Given the description of an element on the screen output the (x, y) to click on. 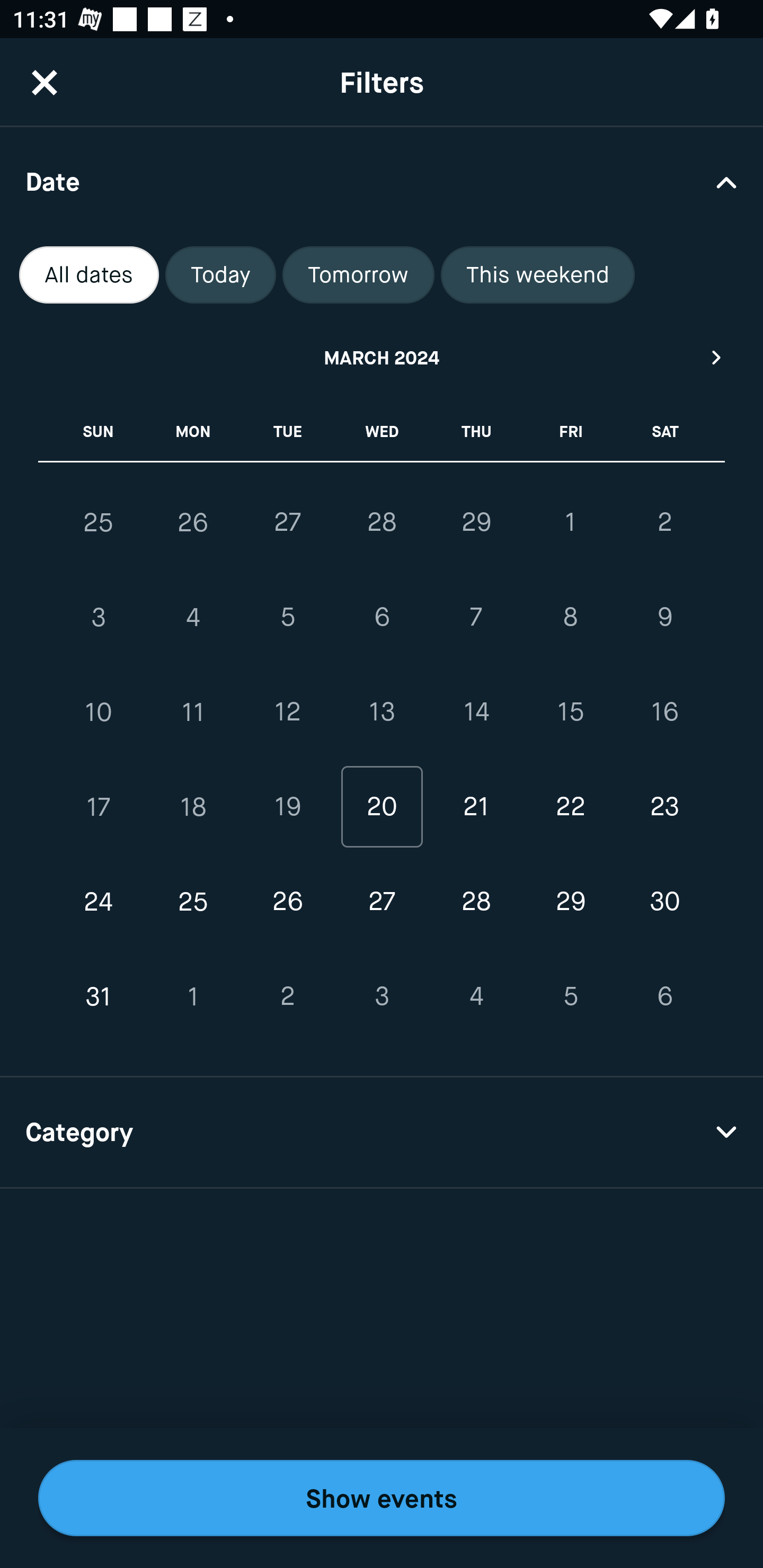
CloseButton (44, 82)
Date Drop Down Arrow (381, 181)
All dates (88, 274)
Today (220, 274)
Tomorrow (358, 274)
This weekend (537, 274)
Next (717, 357)
25 (98, 522)
26 (192, 522)
27 (287, 522)
28 (381, 522)
29 (475, 522)
1 (570, 522)
2 (664, 522)
3 (98, 617)
4 (192, 617)
5 (287, 617)
6 (381, 617)
7 (475, 617)
8 (570, 617)
9 (664, 617)
10 (98, 711)
11 (192, 711)
12 (287, 711)
13 (381, 711)
14 (475, 711)
15 (570, 711)
16 (664, 711)
17 (98, 806)
18 (192, 806)
19 (287, 806)
20 (381, 806)
21 (475, 806)
22 (570, 806)
23 (664, 806)
24 (98, 901)
25 (192, 901)
26 (287, 901)
27 (381, 901)
28 (475, 901)
29 (570, 901)
30 (664, 901)
31 (98, 996)
1 (192, 996)
2 (287, 996)
3 (381, 996)
4 (475, 996)
5 (570, 996)
6 (664, 996)
Category Drop Down Arrow (381, 1132)
Show events (381, 1497)
